Given the description of an element on the screen output the (x, y) to click on. 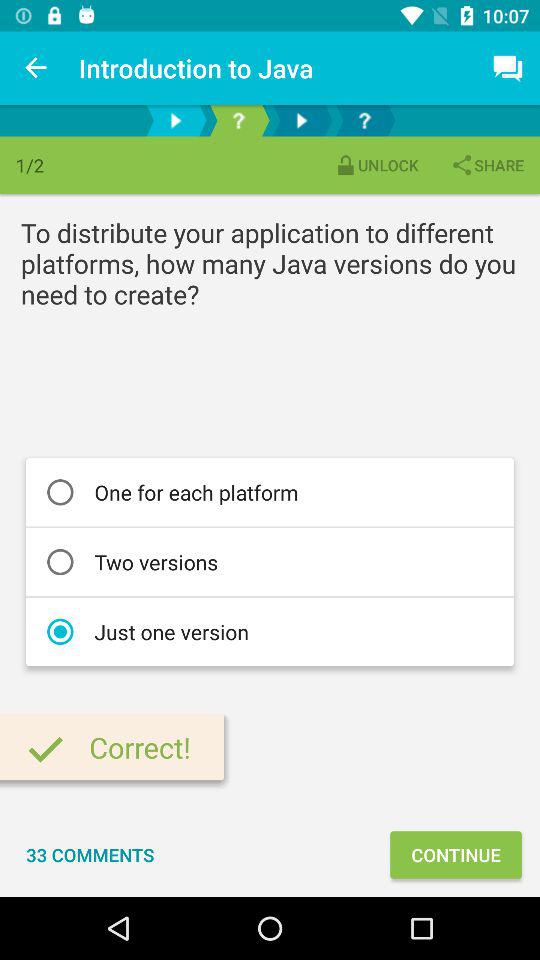
open item to the left of introduction to java icon (36, 68)
